Given the description of an element on the screen output the (x, y) to click on. 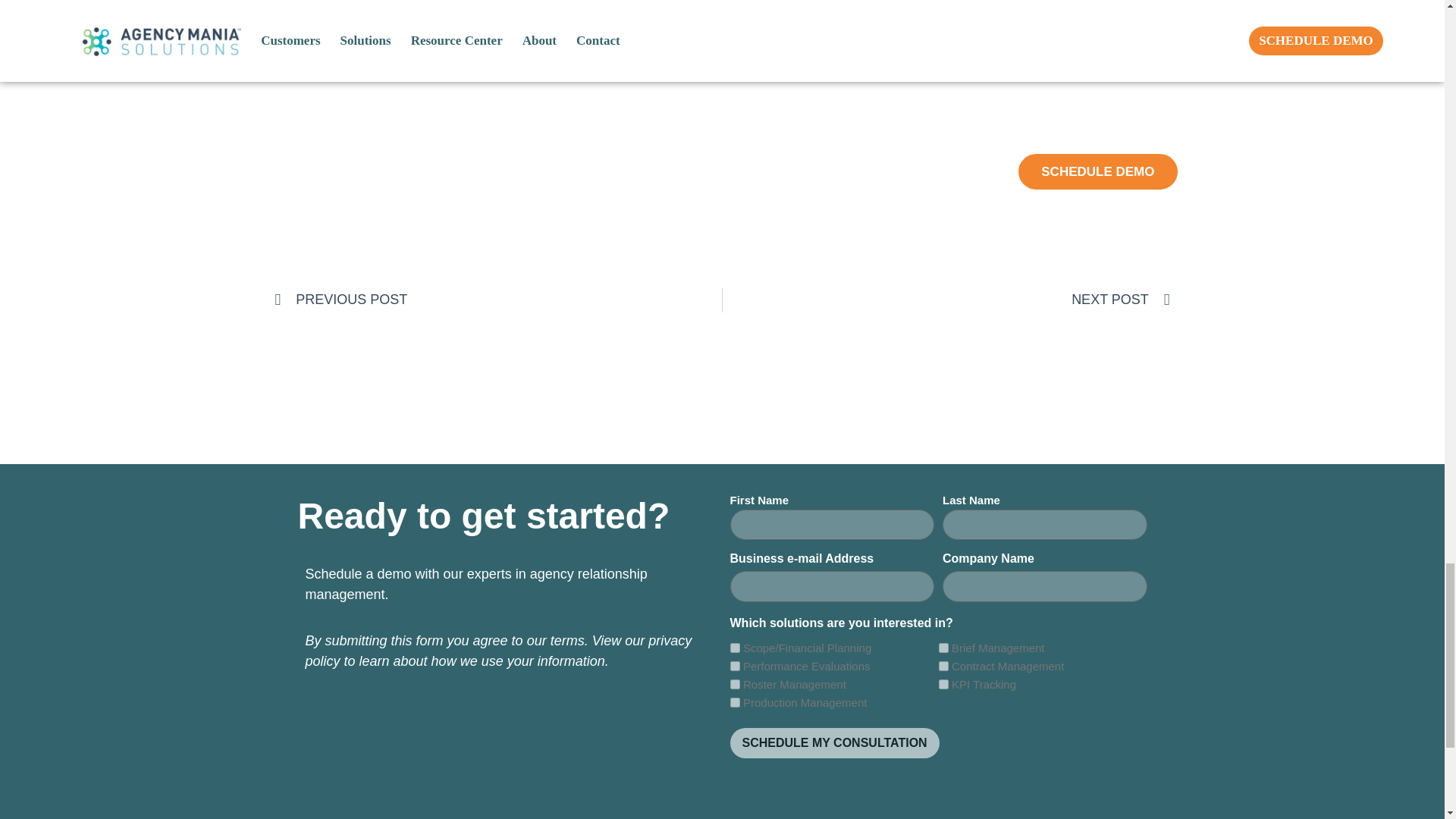
KPI Tracking (944, 684)
Contract Management (944, 665)
Production Management (734, 702)
Schedule My Consultation (834, 743)
Performance Evaluations (734, 665)
Brief Management (944, 647)
Roster Management (734, 684)
